Given the description of an element on the screen output the (x, y) to click on. 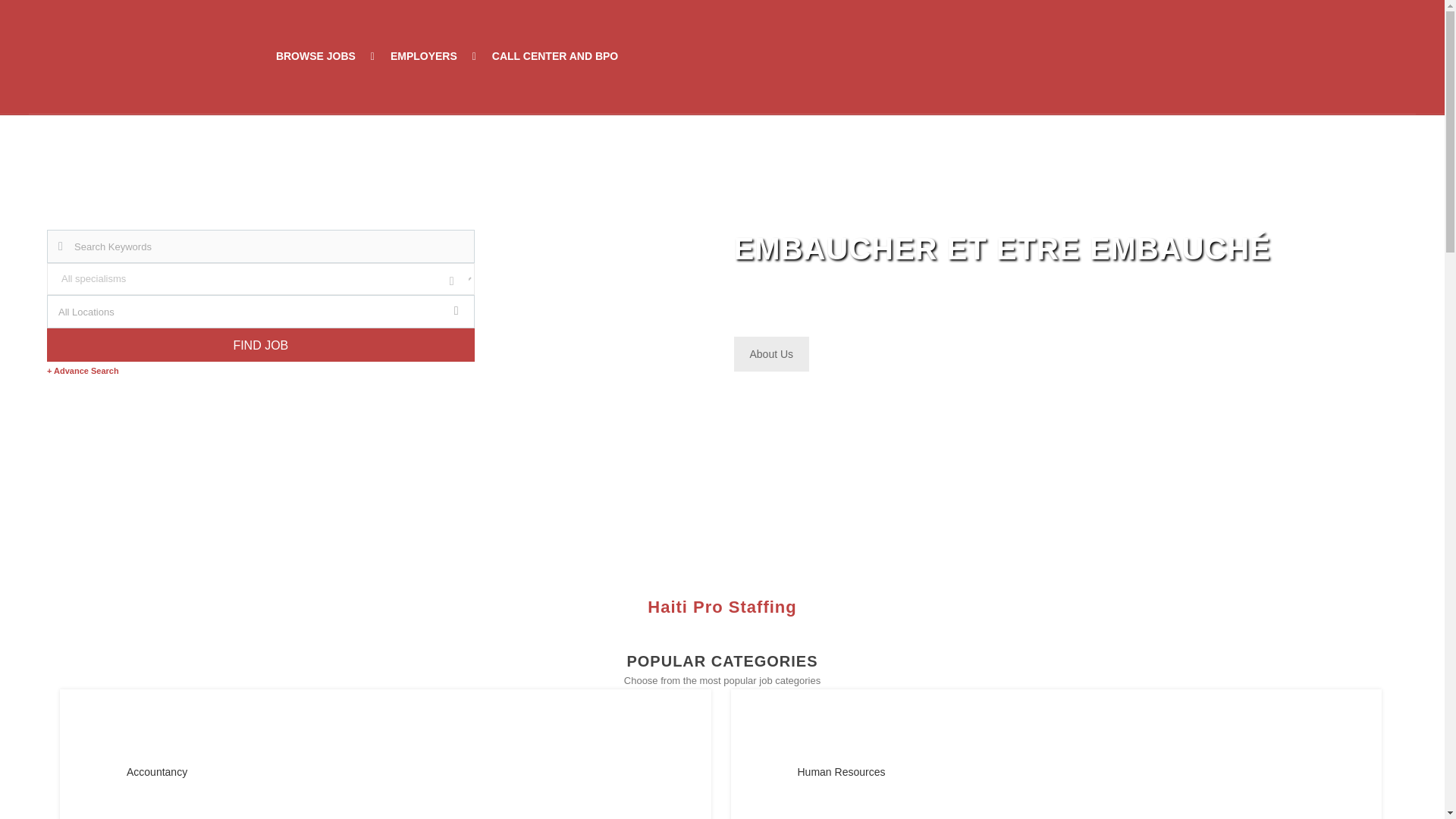
Accountancy (334, 772)
CALL CENTER AND BPO (555, 56)
Human Resources (1005, 772)
EMPLOYERS (423, 56)
BROWSE JOBS (315, 56)
Find Job (260, 344)
About Us (771, 353)
Find Job (260, 344)
About Us (771, 353)
